Given the description of an element on the screen output the (x, y) to click on. 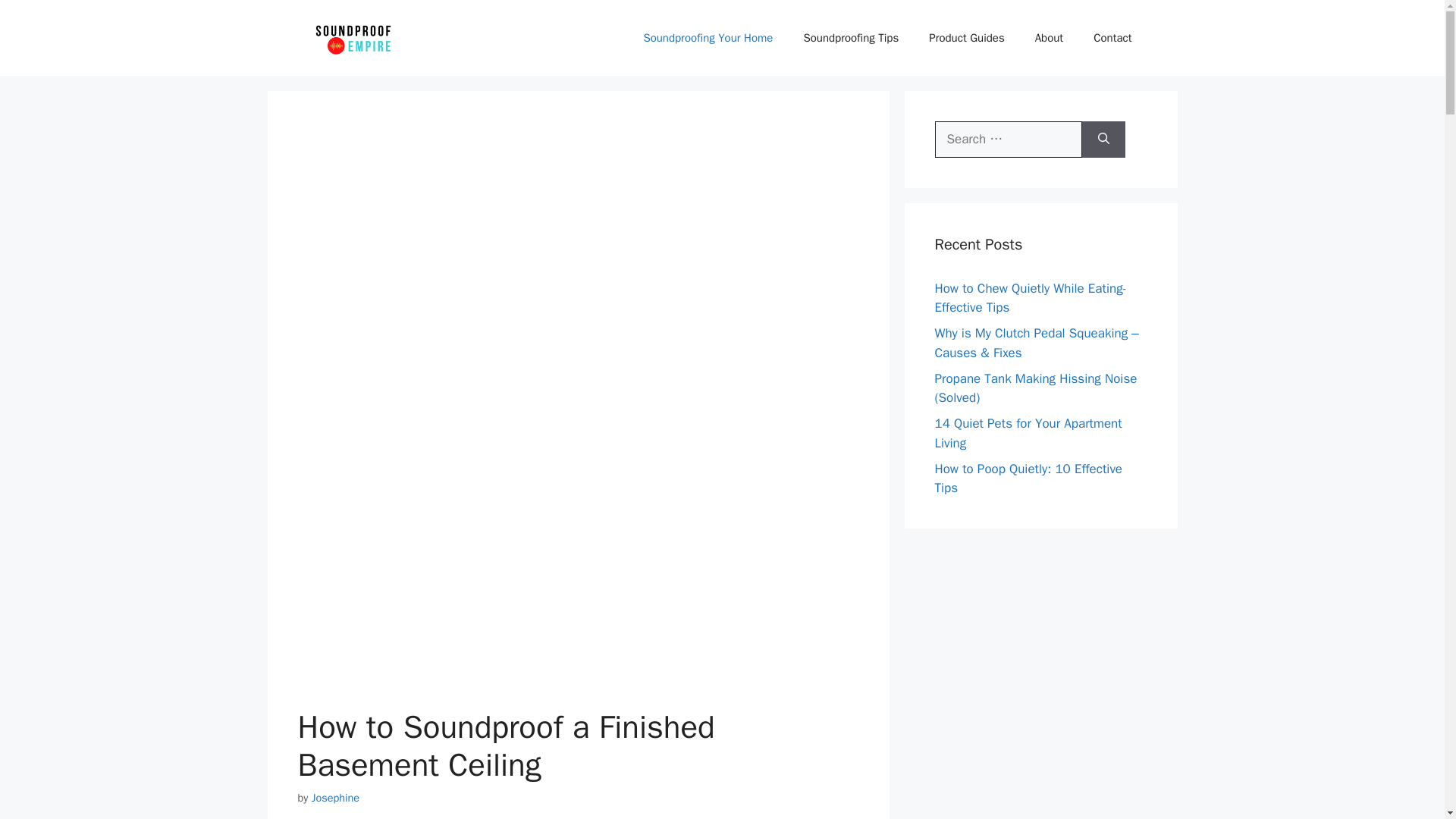
Product Guides (966, 37)
View all posts by Josephine (335, 797)
Soundproofing Your Home (707, 37)
14 Quiet Pets for Your Apartment Living (1027, 433)
Soundproofing Tips (850, 37)
About (1049, 37)
How to Poop Quietly: 10 Effective Tips (1028, 478)
Contact (1112, 37)
How to Chew Quietly While Eating-Effective Tips (1029, 298)
Search for: (1007, 139)
